Given the description of an element on the screen output the (x, y) to click on. 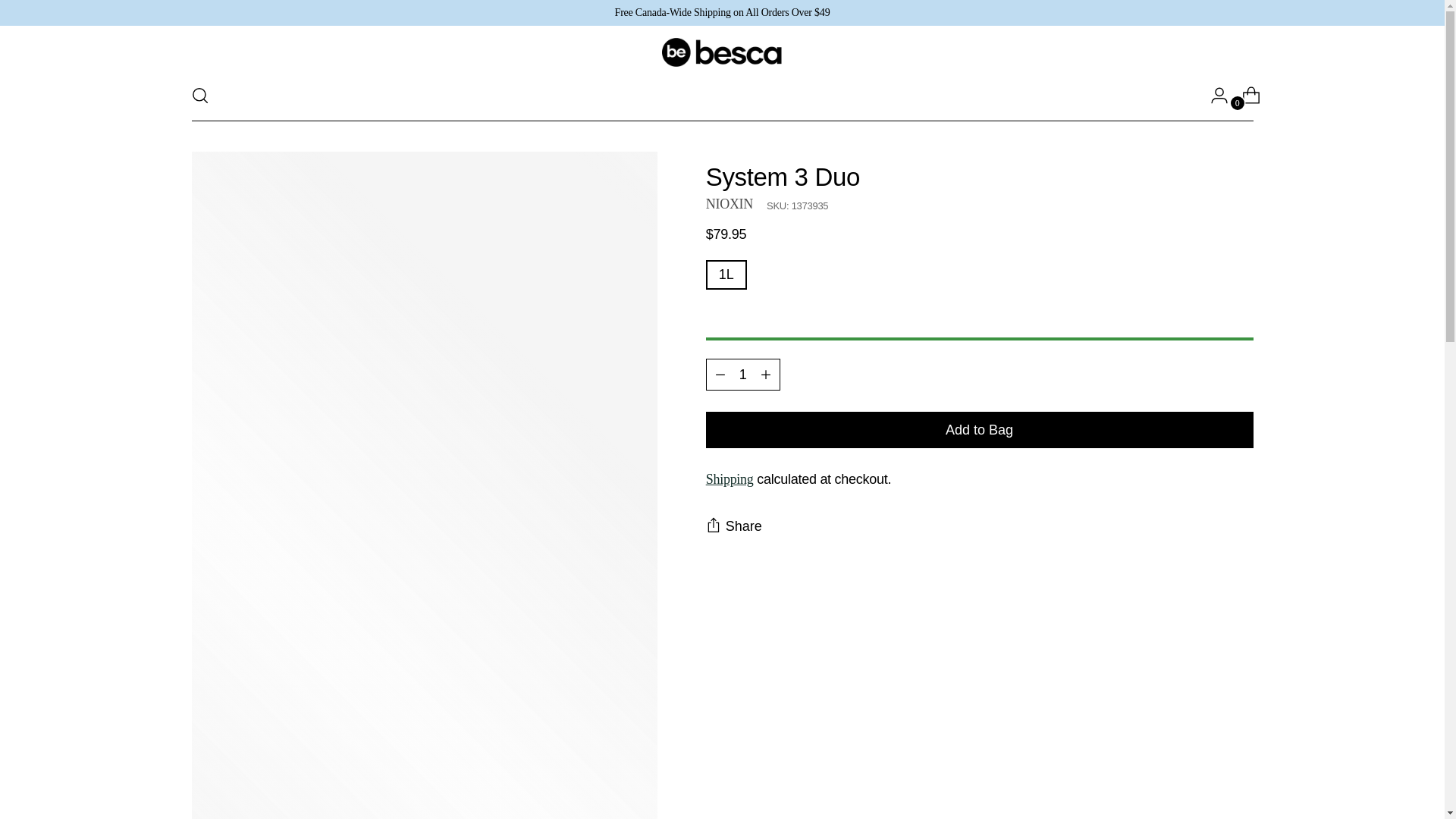
1L (726, 274)
1 (743, 374)
NIOXIN (729, 203)
Shipping (730, 478)
0 (1245, 95)
Add to Bag (979, 429)
NIOXIN (729, 203)
Share (733, 526)
